Given the description of an element on the screen output the (x, y) to click on. 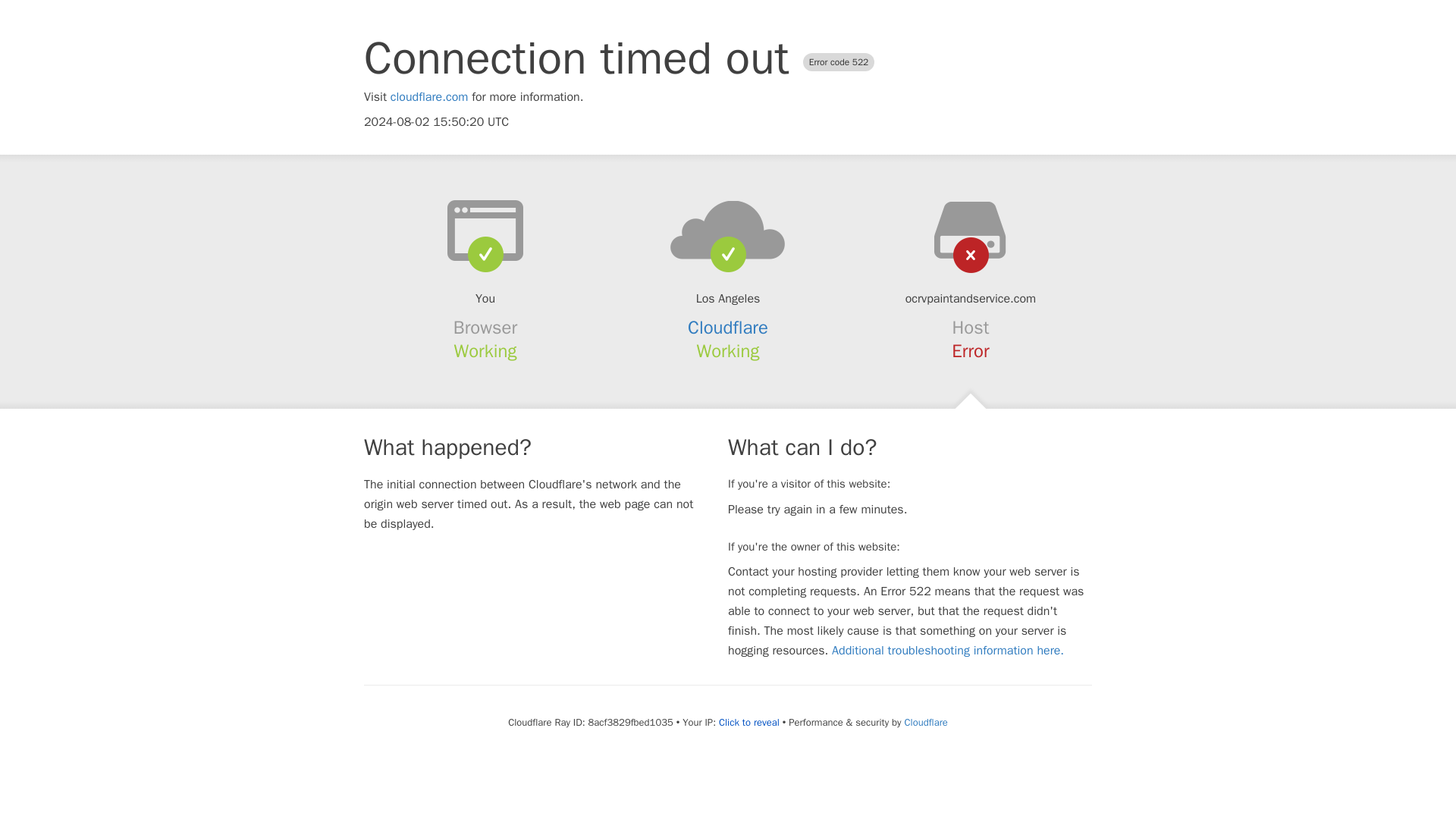
Cloudflare (727, 327)
cloudflare.com (429, 96)
Click to reveal (748, 722)
Additional troubleshooting information here. (947, 650)
Cloudflare (925, 721)
